Given the description of an element on the screen output the (x, y) to click on. 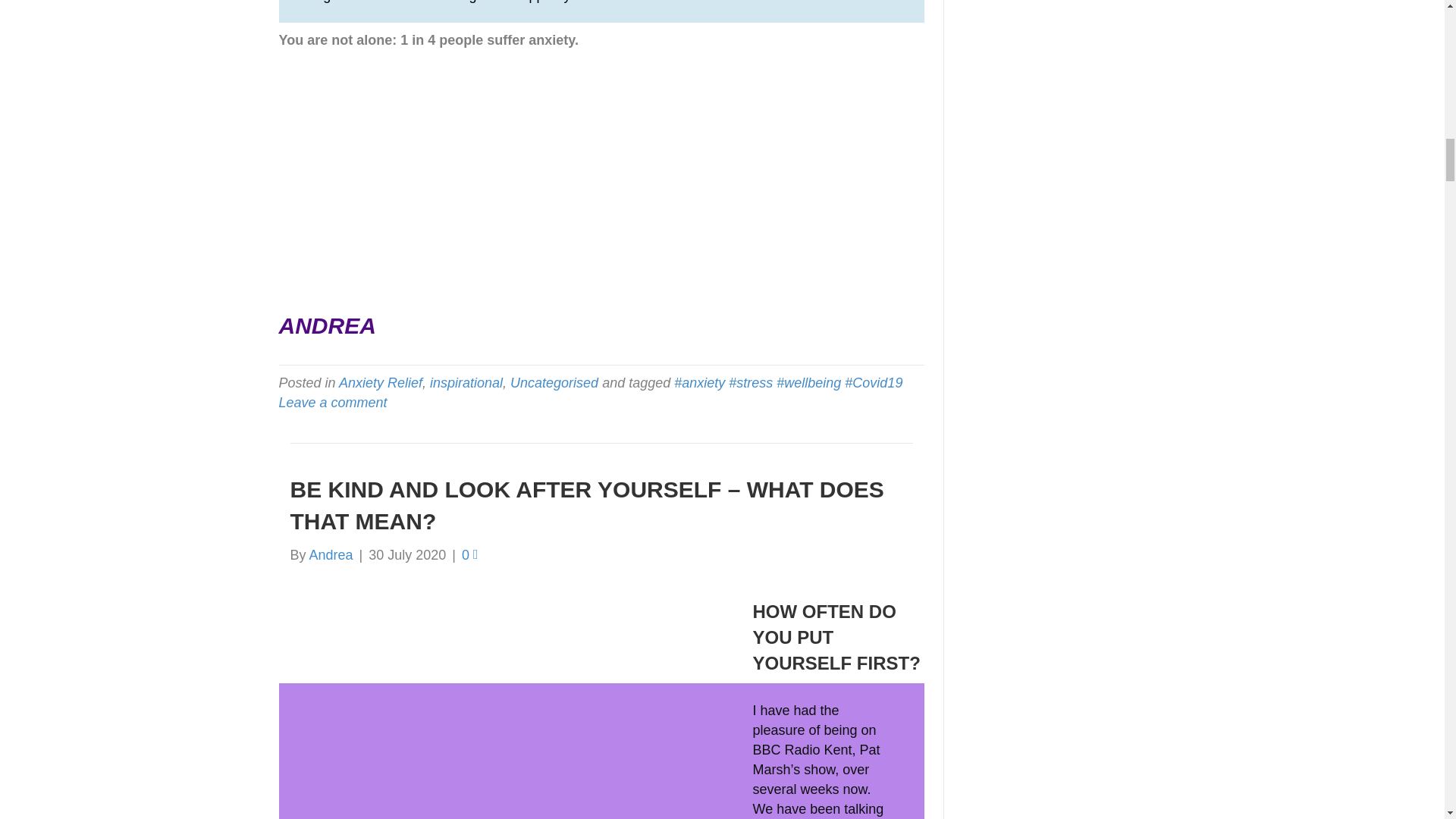
0 (470, 554)
inspirational (465, 382)
Uncategorised (554, 382)
Leave a comment (333, 402)
Anxiety Relief (380, 382)
Andrea (330, 554)
